Given the description of an element on the screen output the (x, y) to click on. 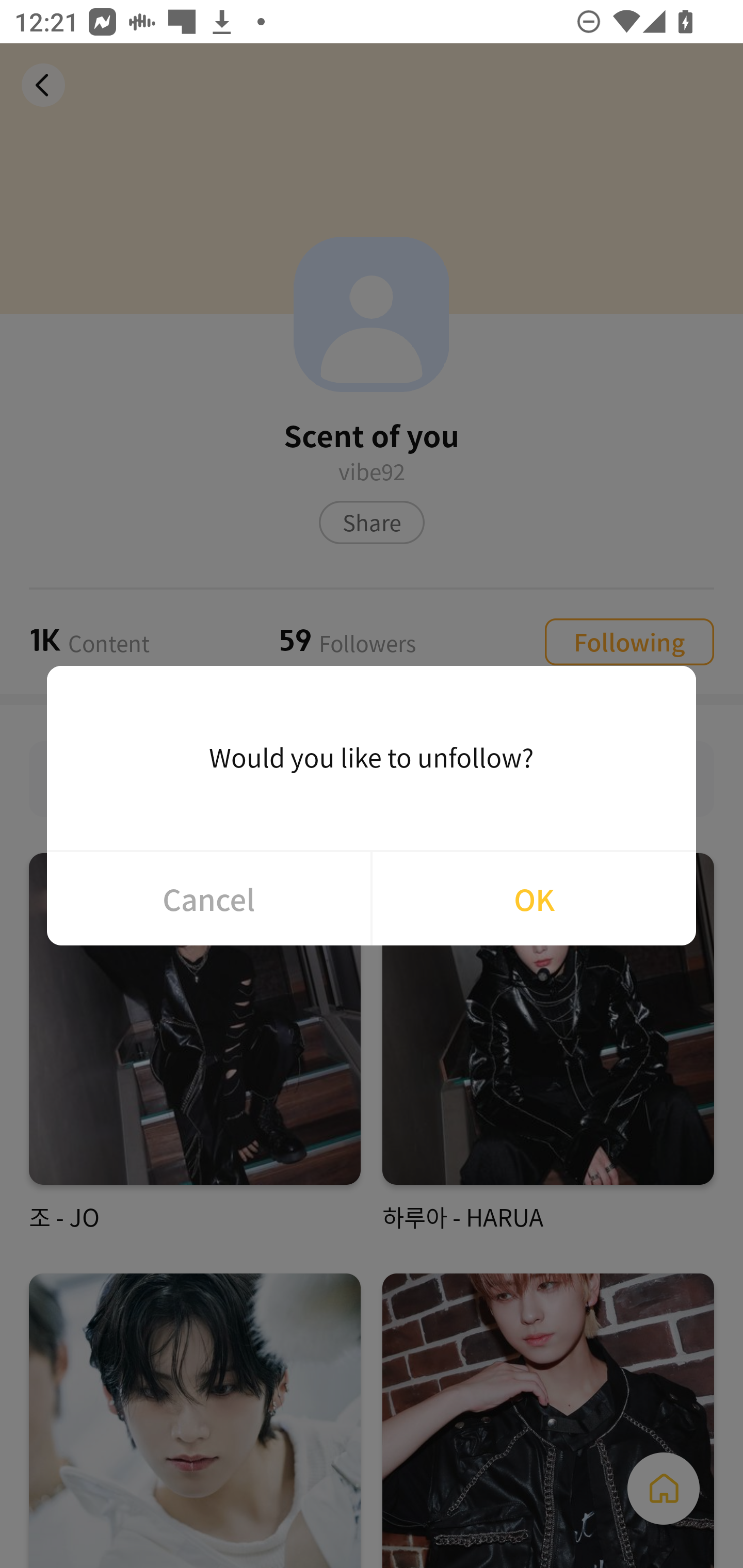
Cancel (208, 898)
OK (534, 898)
